Given the description of an element on the screen output the (x, y) to click on. 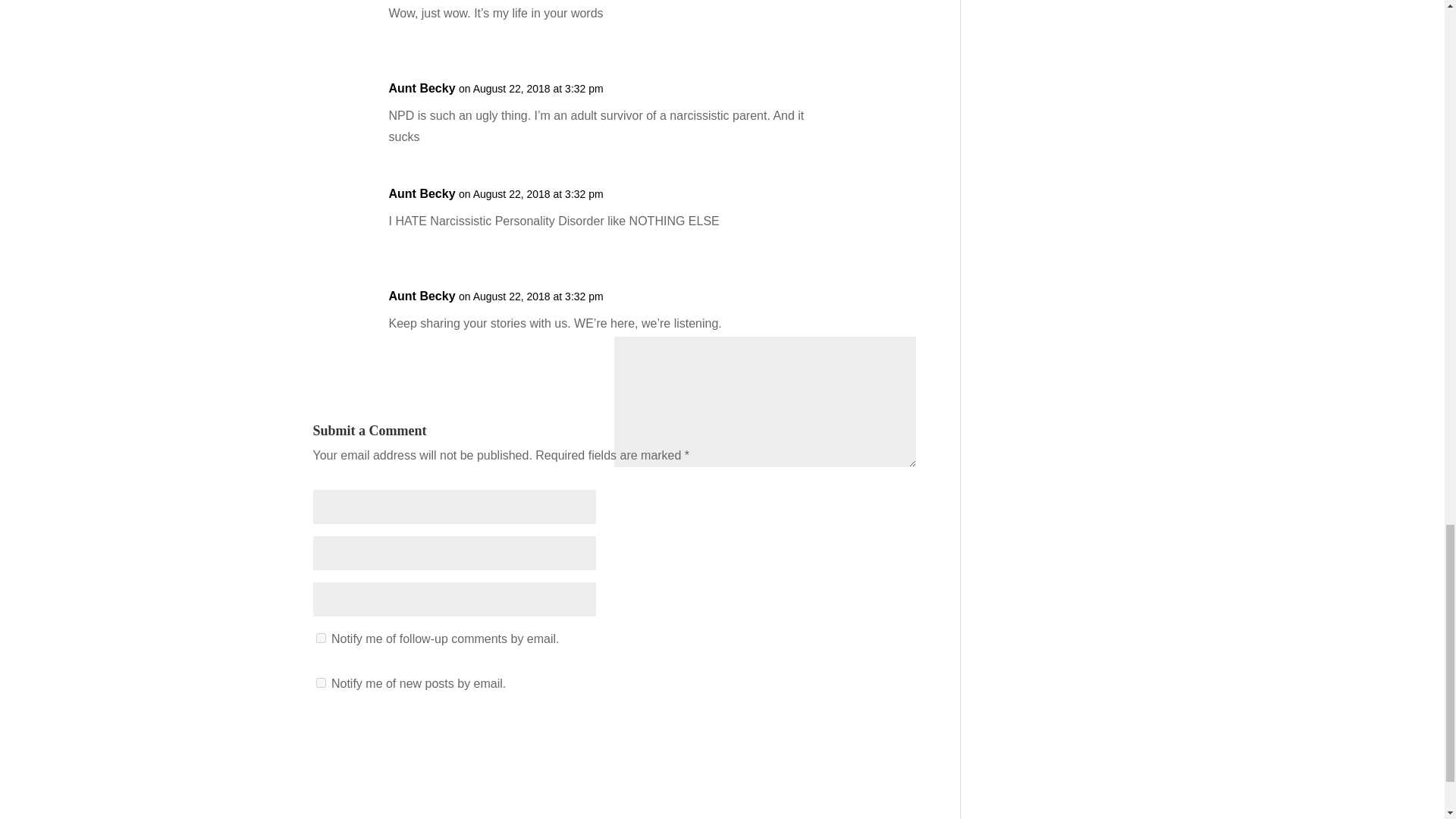
subscribe (319, 637)
Submit Comment (845, 733)
subscribe (319, 682)
